Given the description of an element on the screen output the (x, y) to click on. 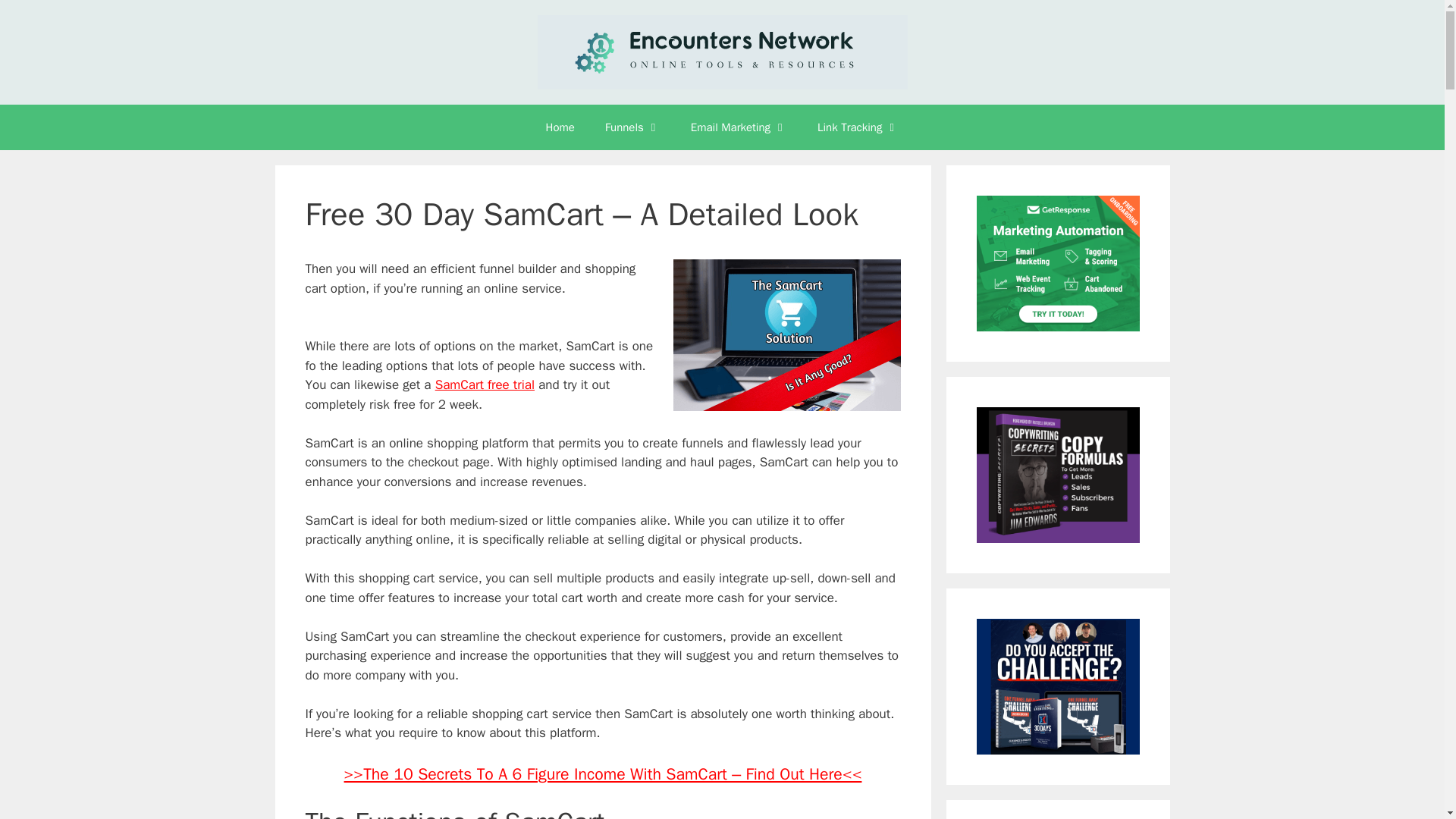
Funnels (632, 126)
Link Tracking (858, 126)
Home (560, 126)
Email Marketing (738, 126)
SamCart free trial (484, 384)
